Given the description of an element on the screen output the (x, y) to click on. 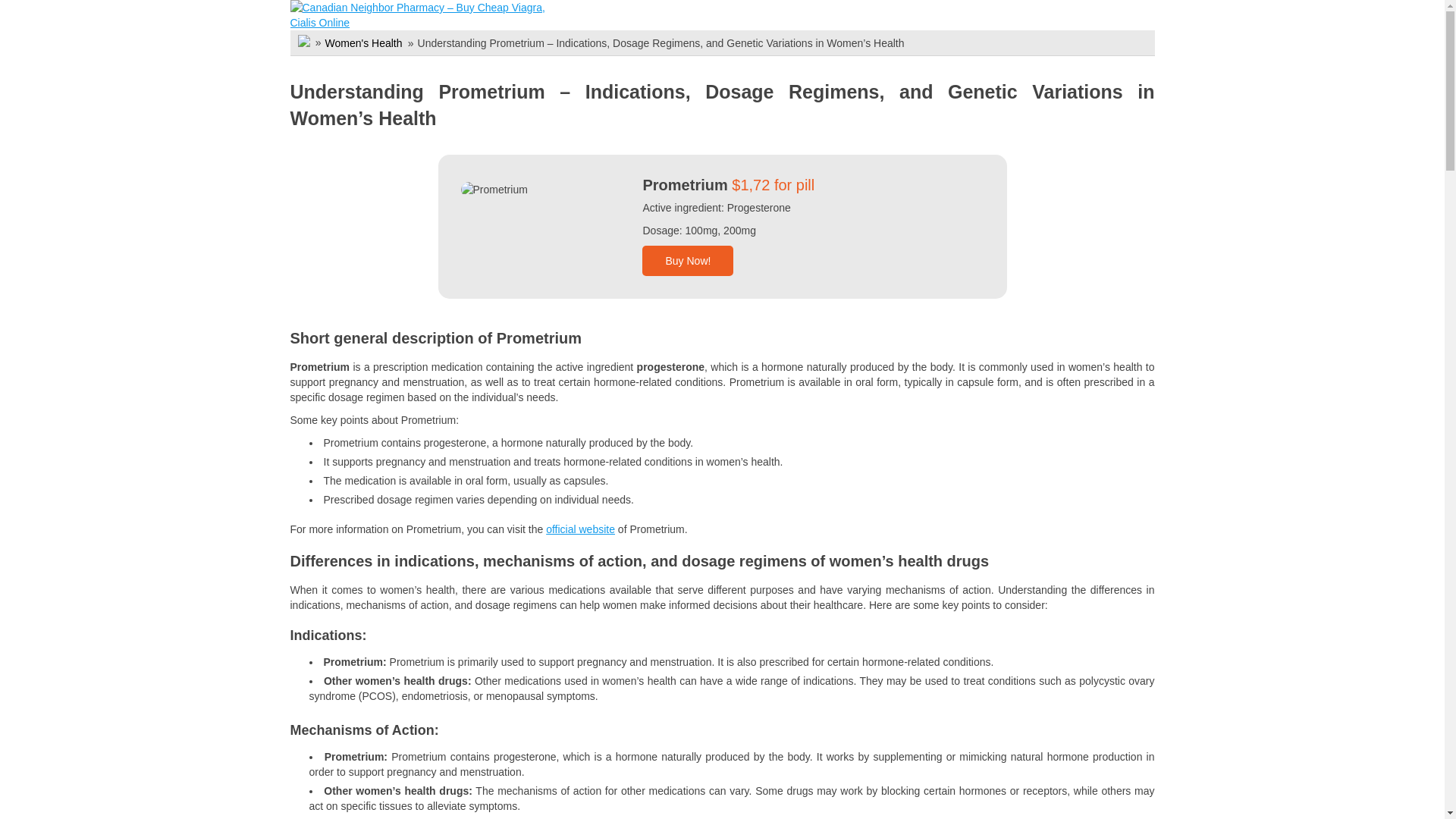
official website (580, 529)
Women's Health (362, 42)
Buy Now! (687, 260)
